Given the description of an element on the screen output the (x, y) to click on. 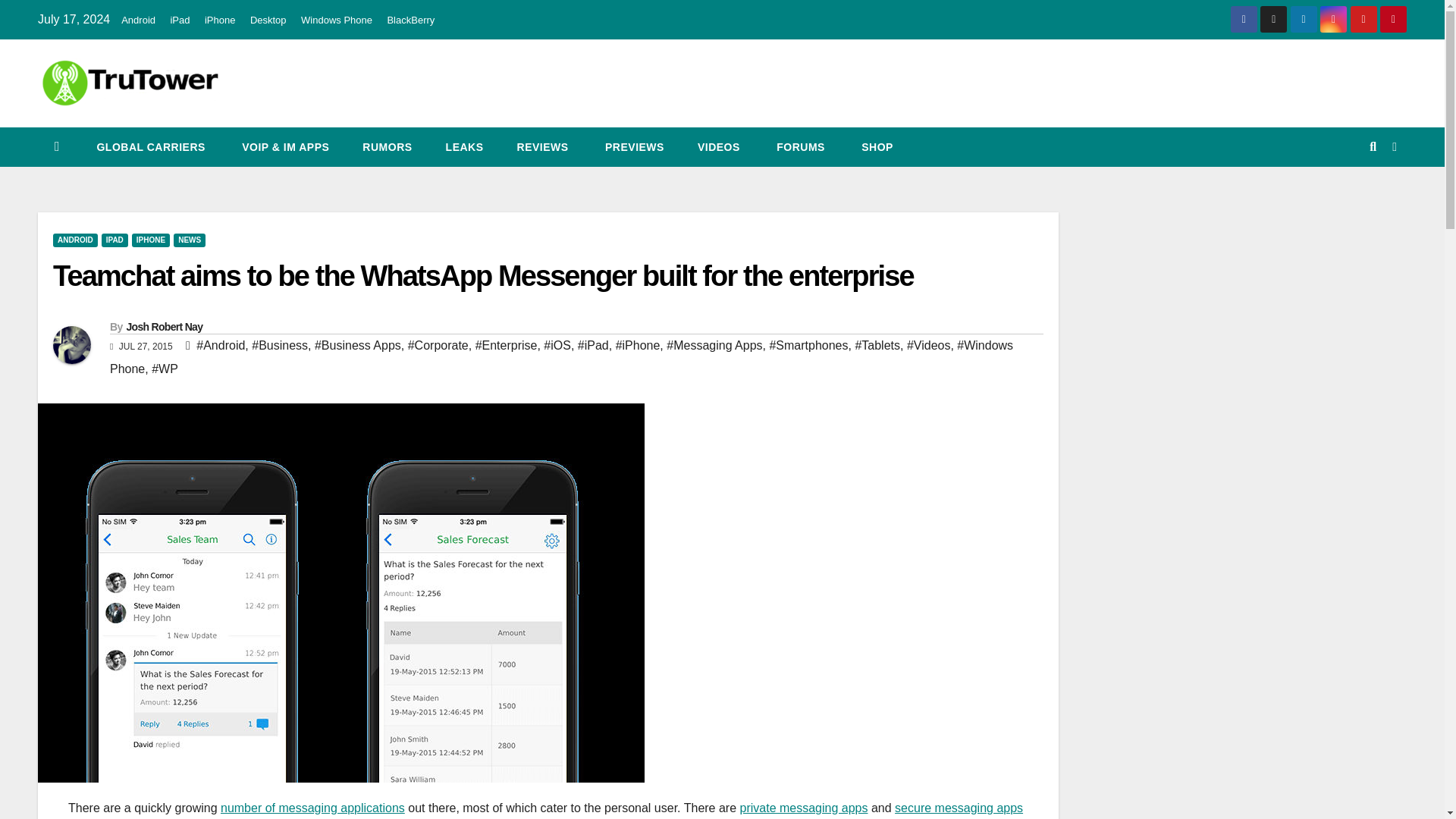
ANDROID (74, 240)
Social, technology forums, community (799, 147)
Rumors (387, 147)
NEWS (189, 240)
RUMORS (387, 147)
IPHONE (151, 240)
Desktop (268, 19)
VIDEOS (719, 147)
iPhone (219, 19)
 GLOBAL CARRIERS (149, 147)
Android (137, 19)
REVIEWS (542, 147)
GSM Roaming, International Phone Service, Travel SIM Cards (149, 147)
BlackBerry (410, 19)
